Given the description of an element on the screen output the (x, y) to click on. 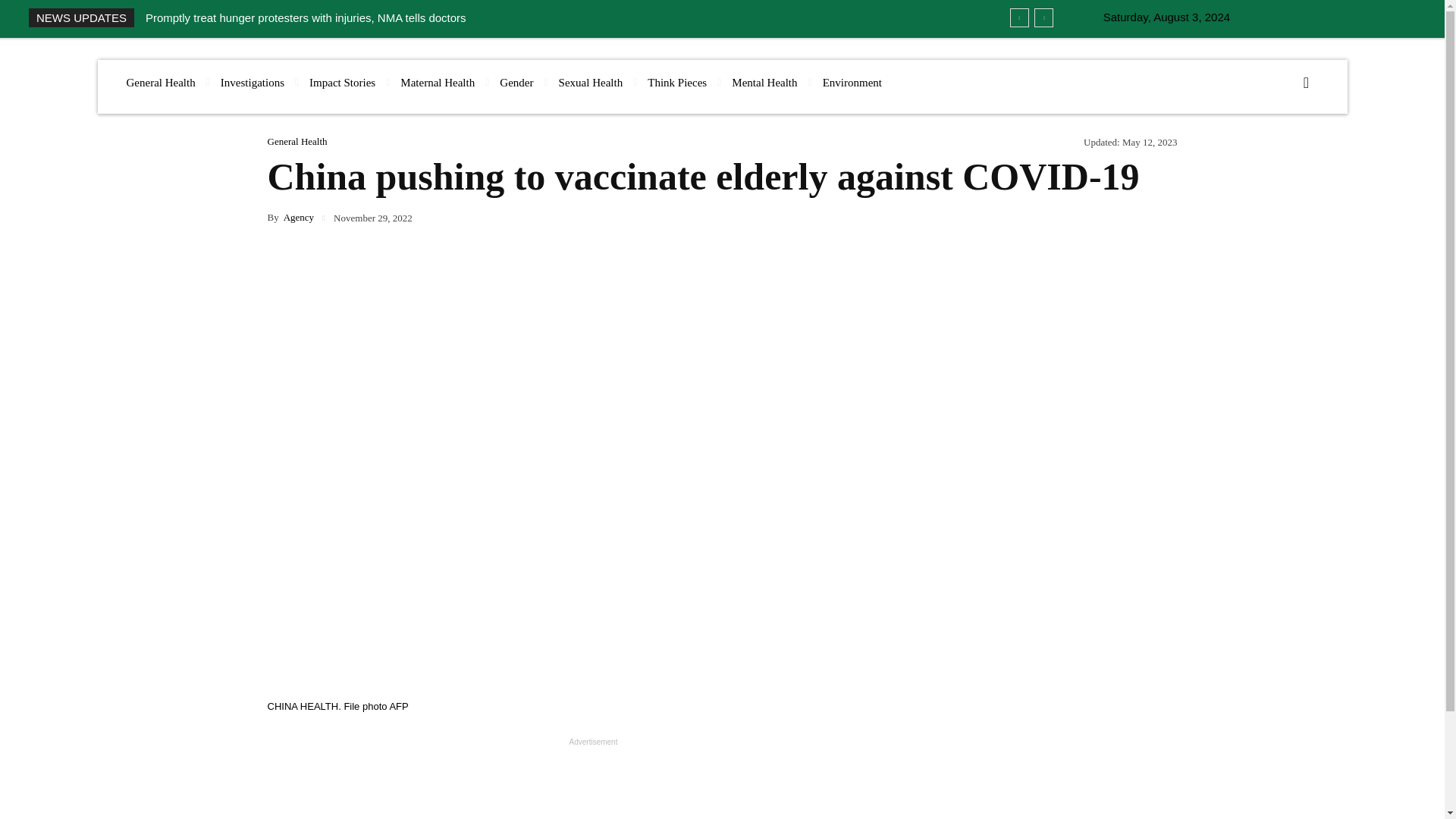
Investigations (252, 82)
General Health (160, 82)
